Given the description of an element on the screen output the (x, y) to click on. 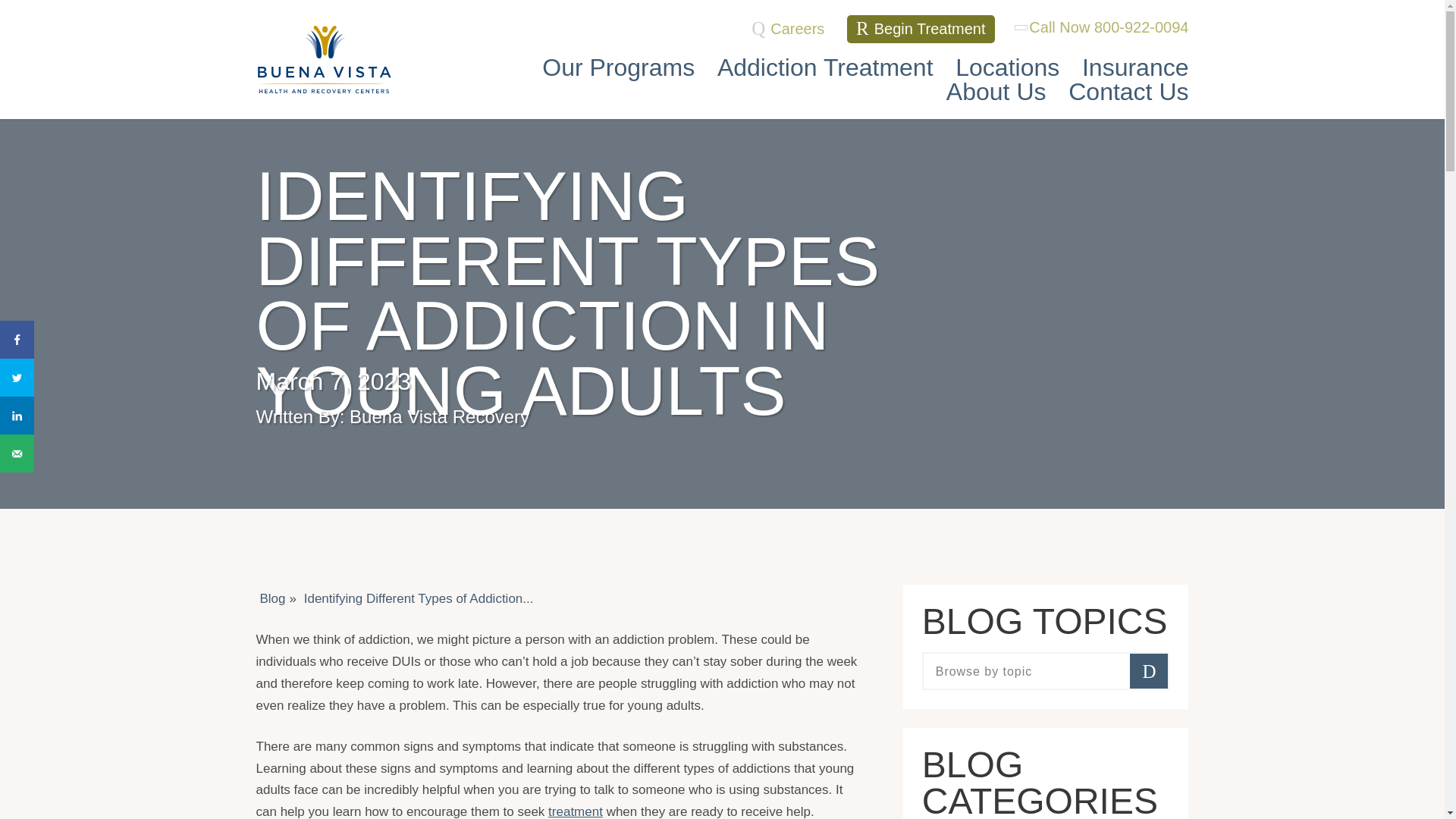
Blog (272, 597)
Buena Vista Recovery (324, 58)
Identifying Different Types of Addiction in Young Adults (418, 597)
Share on Twitter (16, 377)
Share on Facebook (16, 339)
